Given the description of an element on the screen output the (x, y) to click on. 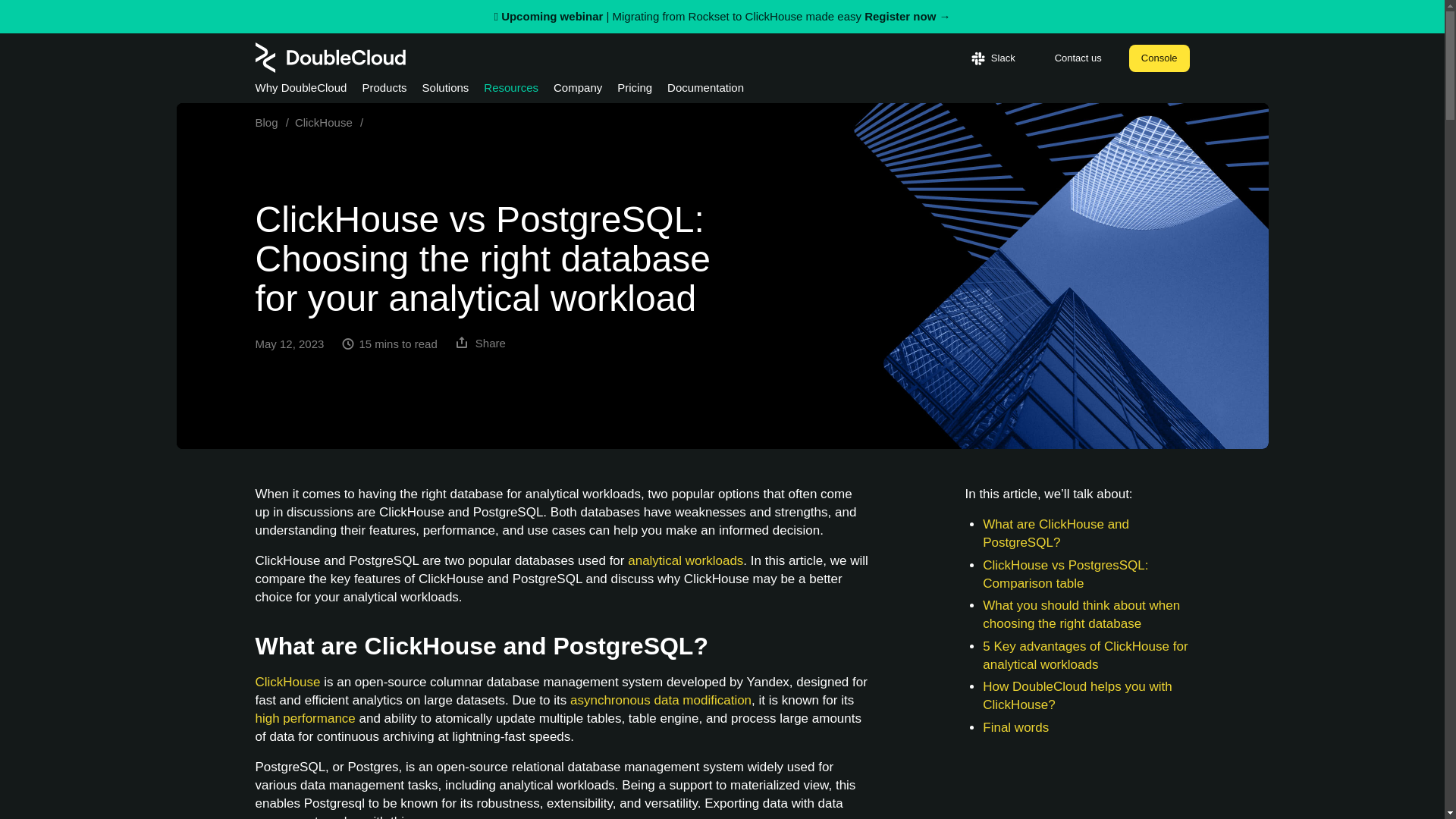
Solutions (445, 91)
Products (383, 91)
Console (1159, 58)
Blog (274, 122)
Resources (510, 91)
Pricing (634, 91)
Contact us (1077, 58)
Company (577, 91)
Slack (993, 58)
Why DoubleCloud (300, 91)
Documentation (705, 91)
